Given the description of an element on the screen output the (x, y) to click on. 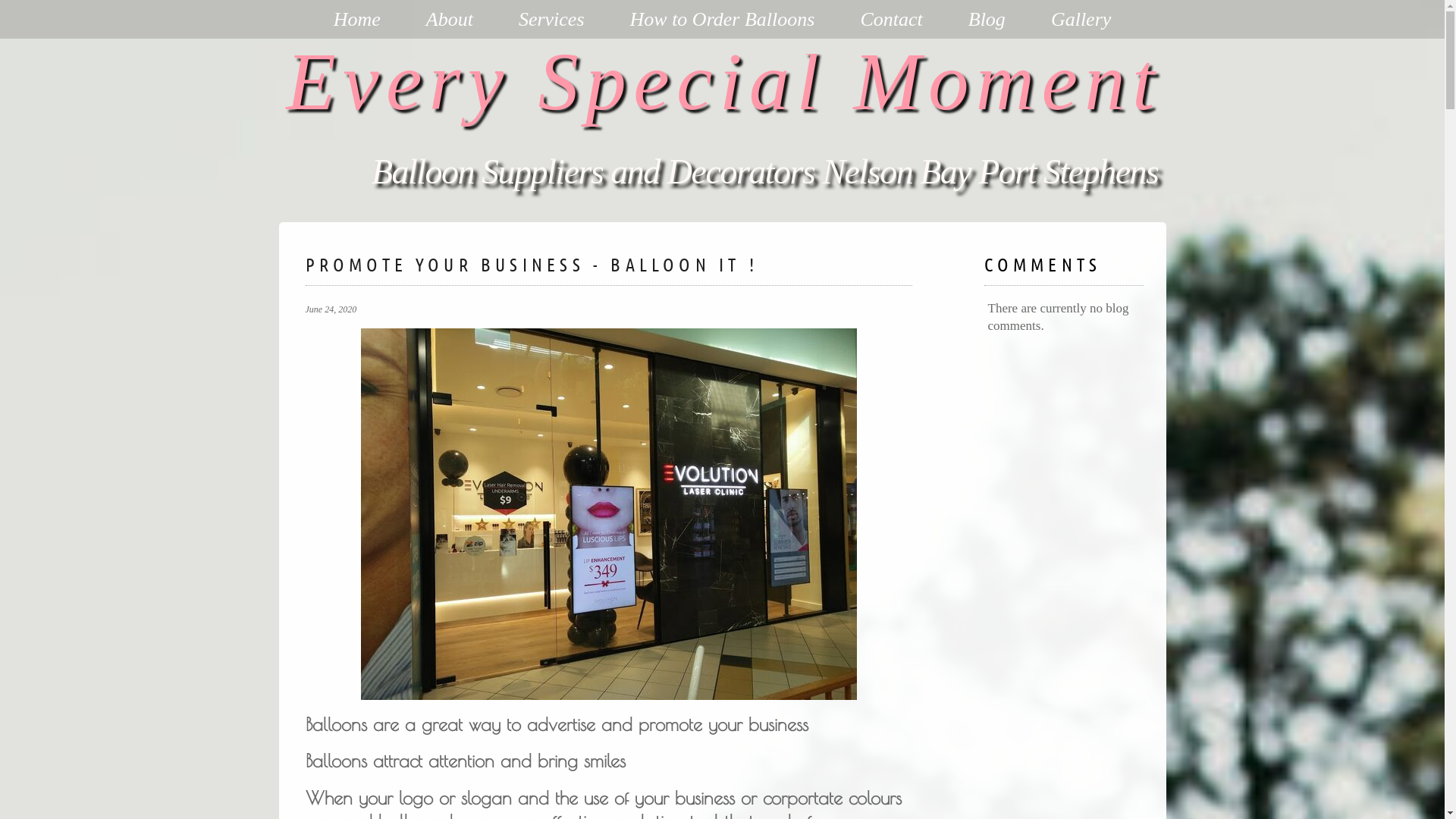
Services Element type: text (551, 19)
About Element type: text (449, 19)
PROMOTE YOUR BUSINESS - BALLOON IT ! Element type: text (530, 264)
Blog Element type: text (986, 19)
Gallery Element type: text (1080, 19)
Every Special Moment Element type: text (724, 81)
How to Order Balloons Element type: text (722, 19)
Contact Element type: text (890, 19)
Home Element type: text (356, 19)
